Given the description of an element on the screen output the (x, y) to click on. 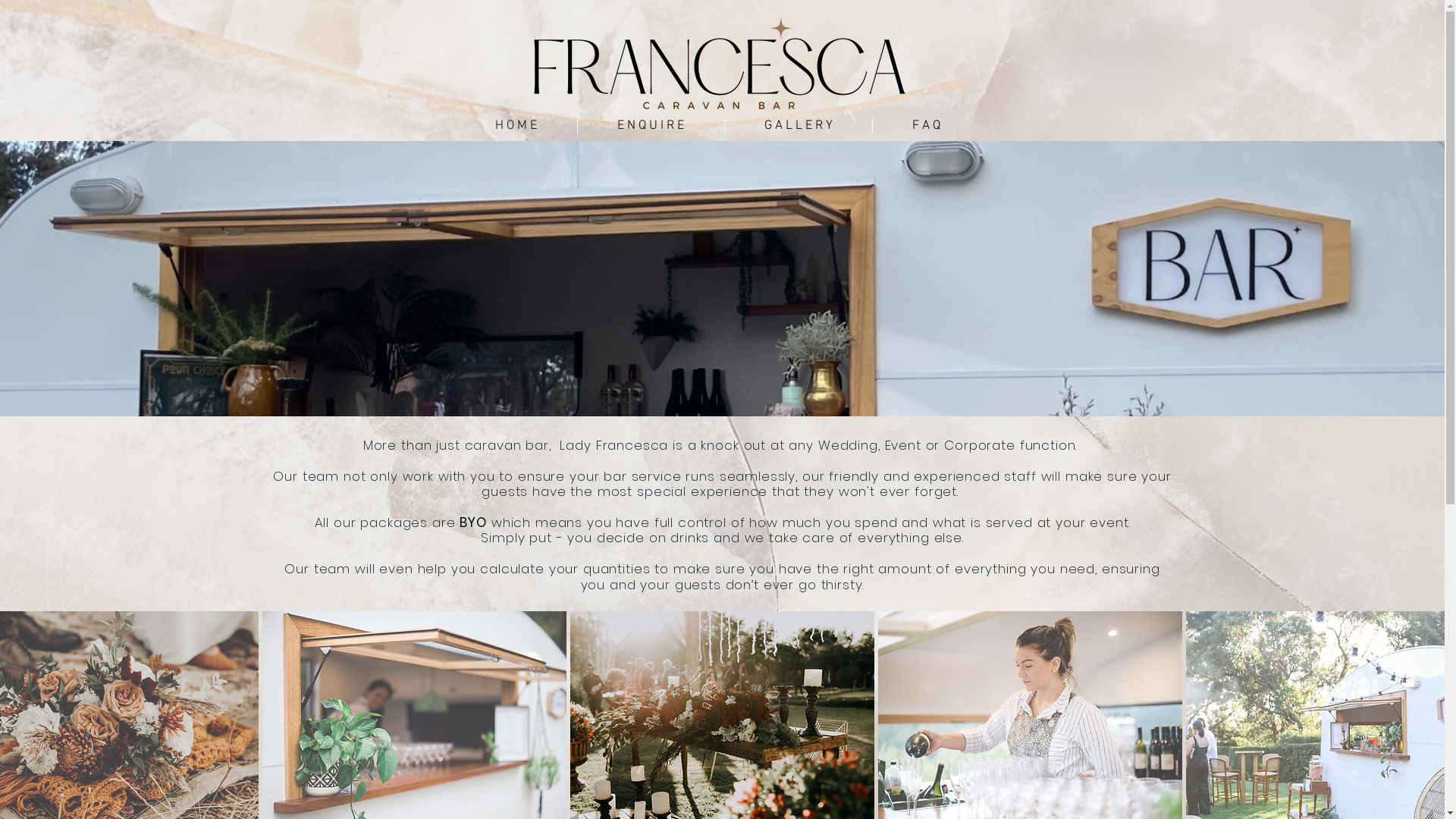
LadyFEventCaravan.png Element type: hover (721, 65)
E N Q U I R E Element type: text (649, 126)
F A Q Element type: text (925, 126)
H O M E Element type: text (515, 126)
G A L L E R Y Element type: text (797, 126)
